Given the description of an element on the screen output the (x, y) to click on. 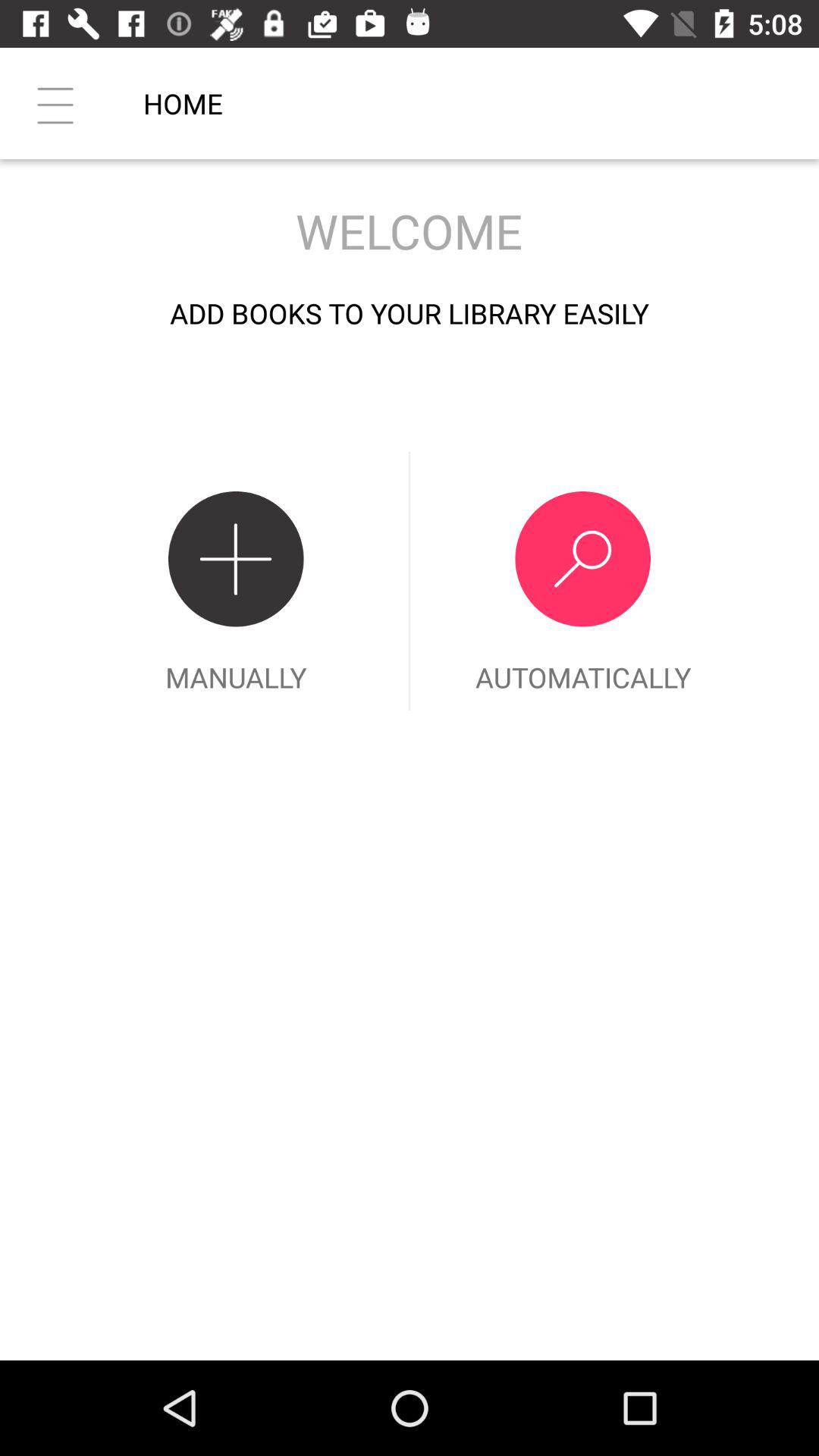
launch the icon on the right (582, 580)
